Given the description of an element on the screen output the (x, y) to click on. 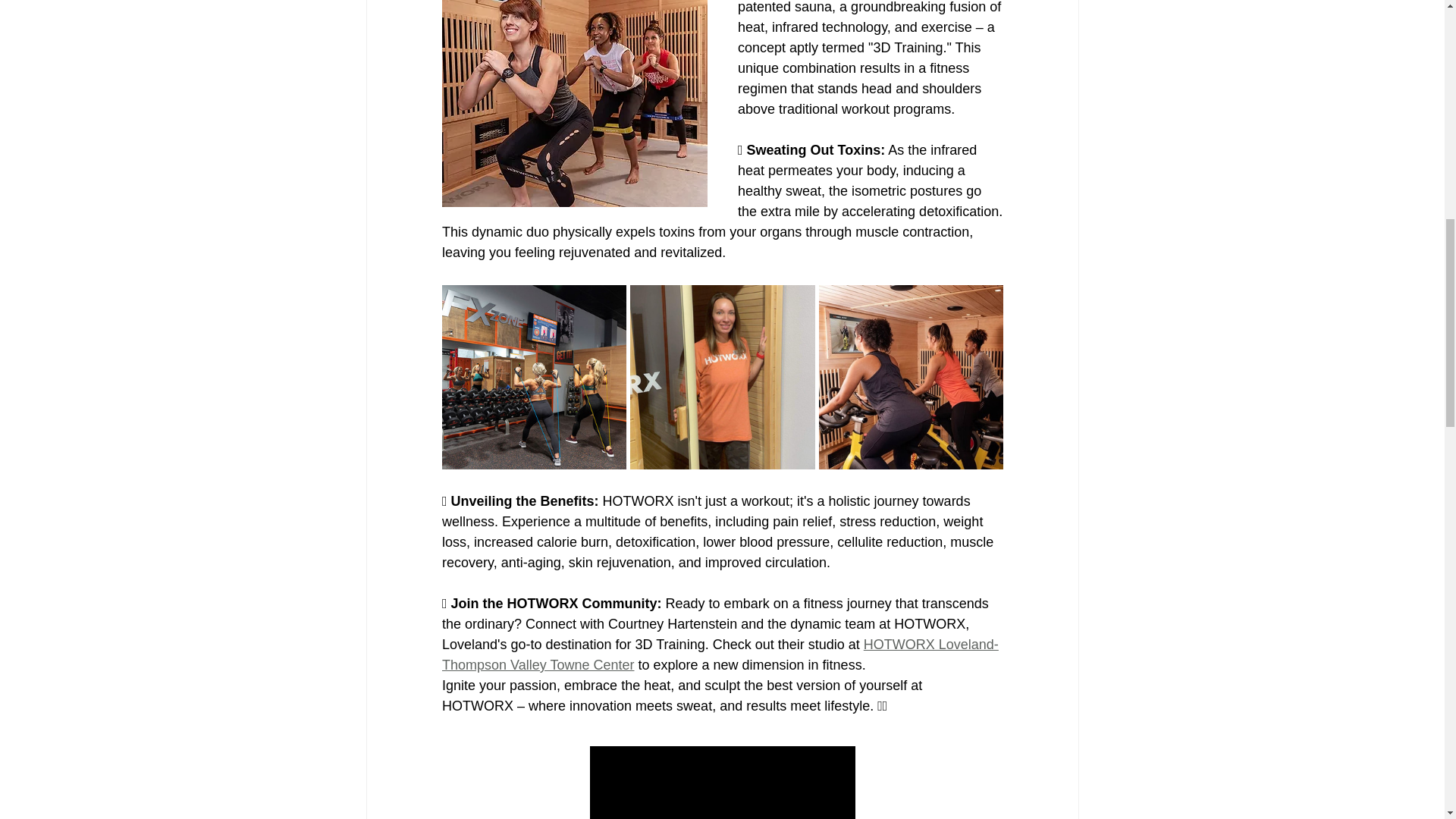
HOTWORX Loveland-Thompson Valley Towne Center (719, 654)
